Given the description of an element on the screen output the (x, y) to click on. 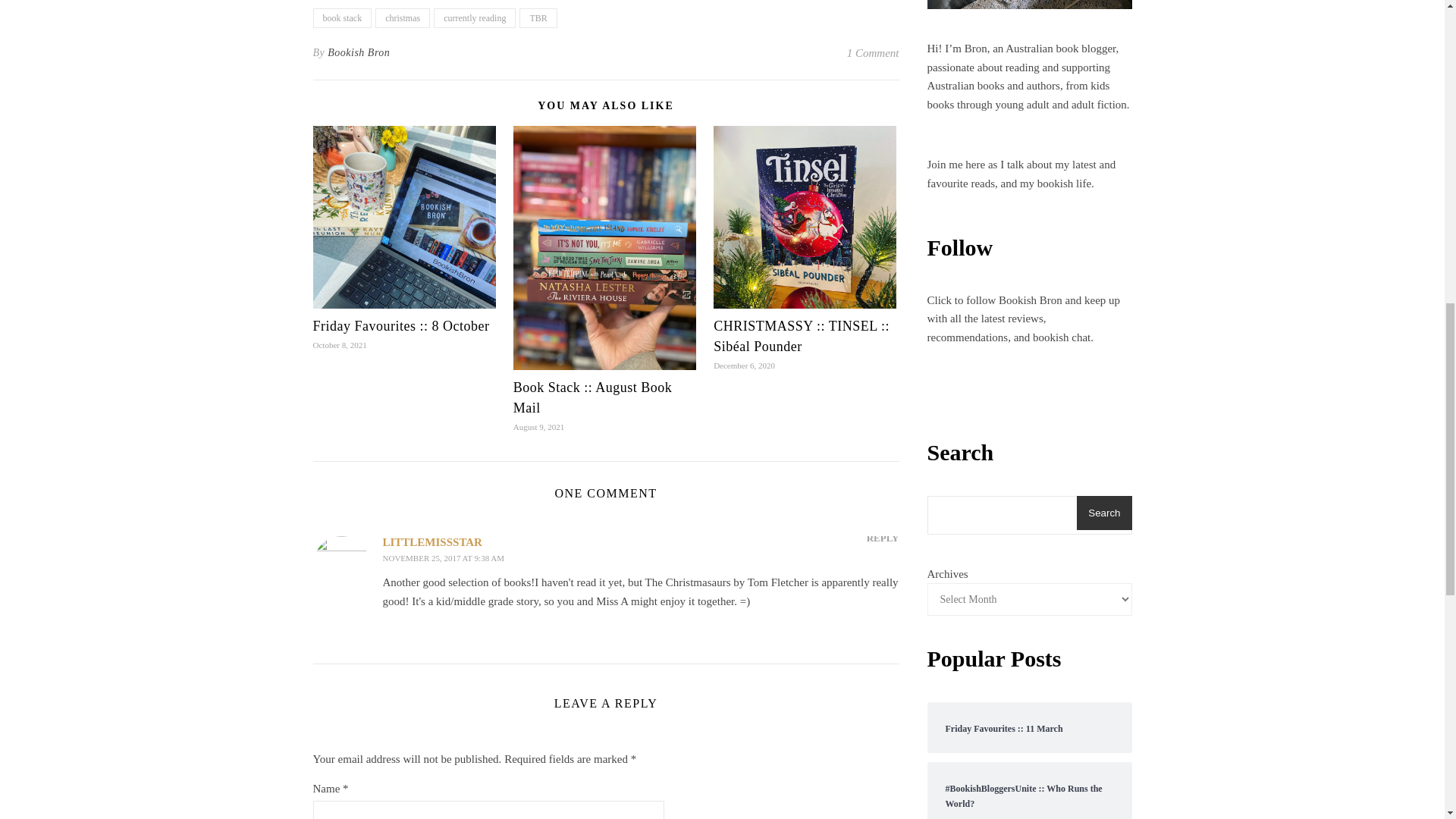
1 Comment (873, 52)
Friday Favourites :: 8 October (401, 325)
LITTLEMISSSTAR (431, 541)
Follow Button (1028, 395)
currently reading (474, 17)
Friday Favourites :: 11 March (1028, 727)
NOVEMBER 25, 2017 AT 9:38 AM (442, 557)
christmas (402, 17)
TBR (537, 17)
Search (1104, 512)
